Given the description of an element on the screen output the (x, y) to click on. 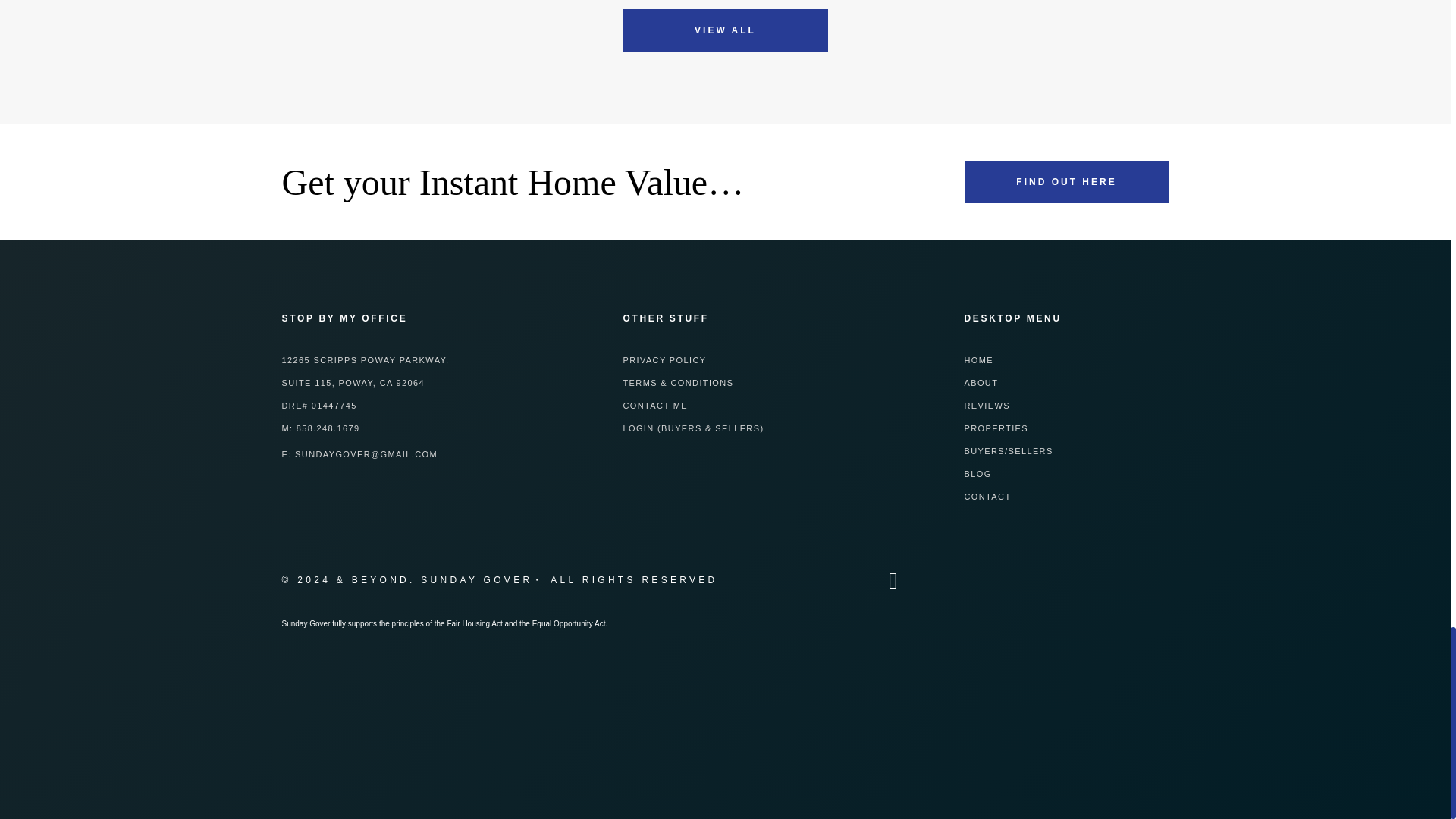
FIND OUT HERE (1066, 181)
VIEW ALL (725, 30)
858.248.1679 (328, 428)
PRIVACY POLICY (664, 359)
